Given the description of an element on the screen output the (x, y) to click on. 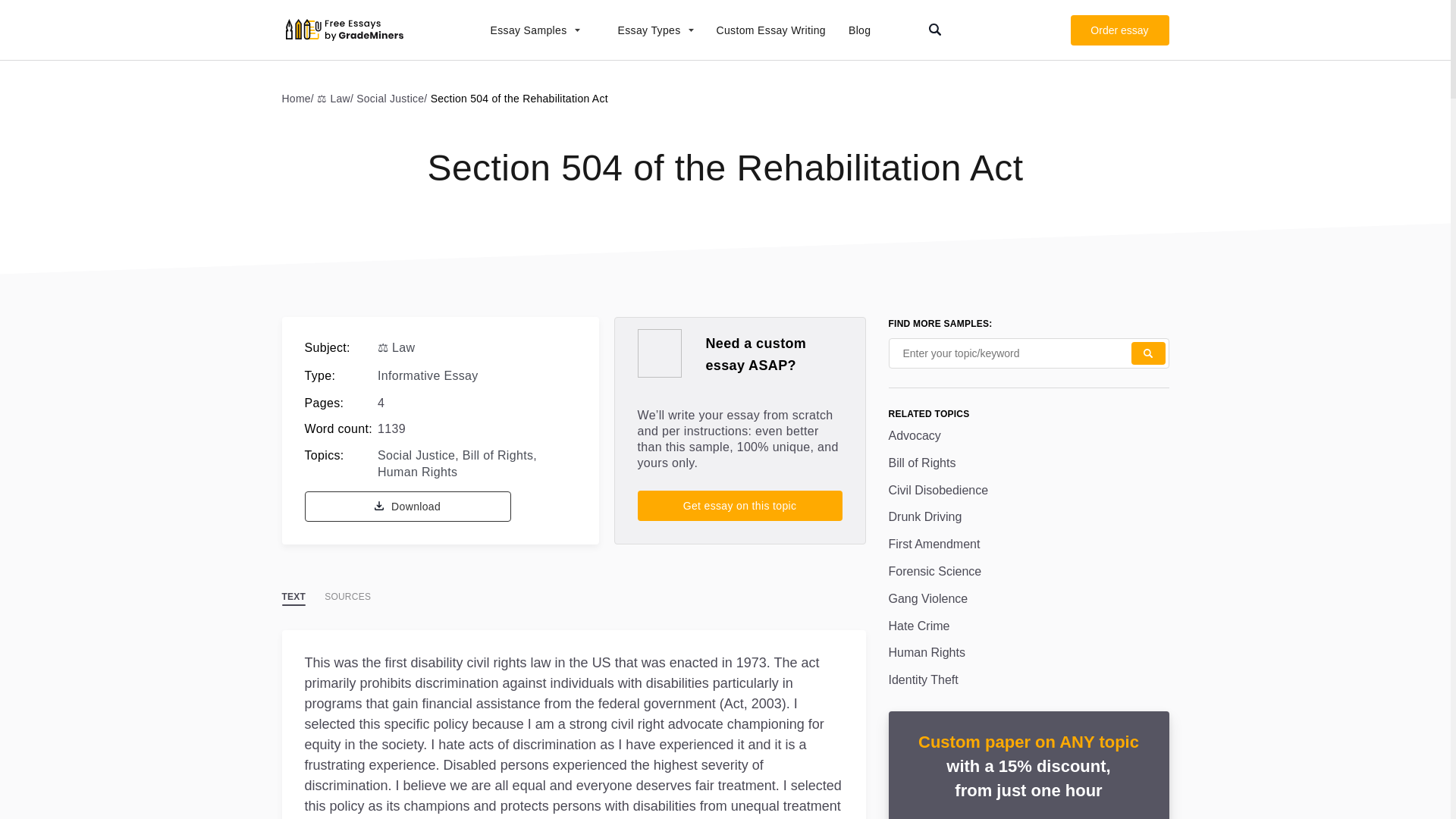
Go to Examples. (299, 97)
Search (1148, 353)
Essay Samples (526, 30)
Go to the Social Justice Example Category archives. (392, 97)
Essay Types (648, 30)
